Given the description of an element on the screen output the (x, y) to click on. 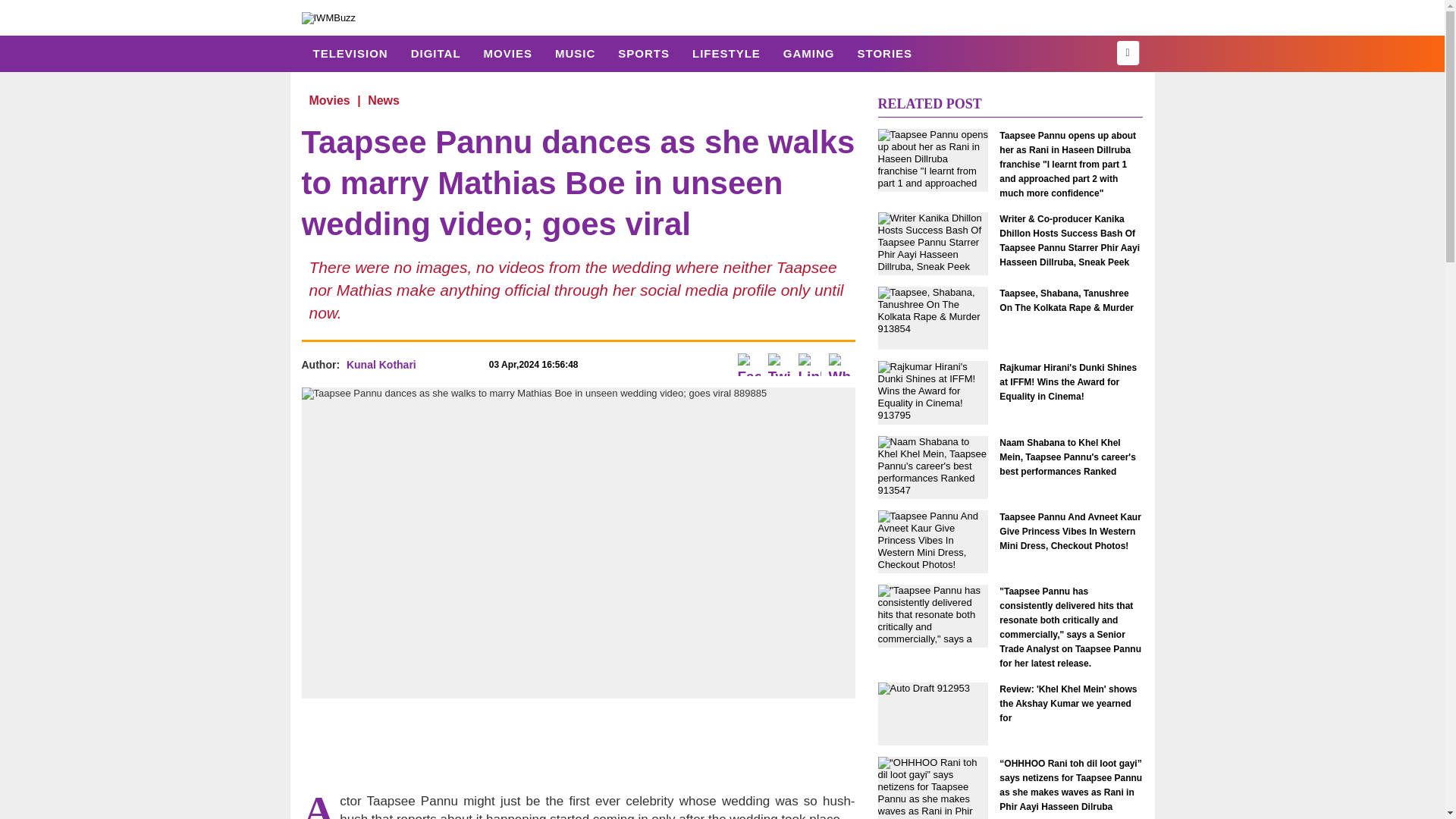
Gaming (808, 53)
Sports (644, 53)
MOVIES (507, 53)
Movies (328, 100)
Kunal Kothari (381, 364)
LIFESTYLE (726, 53)
